Given the description of an element on the screen output the (x, y) to click on. 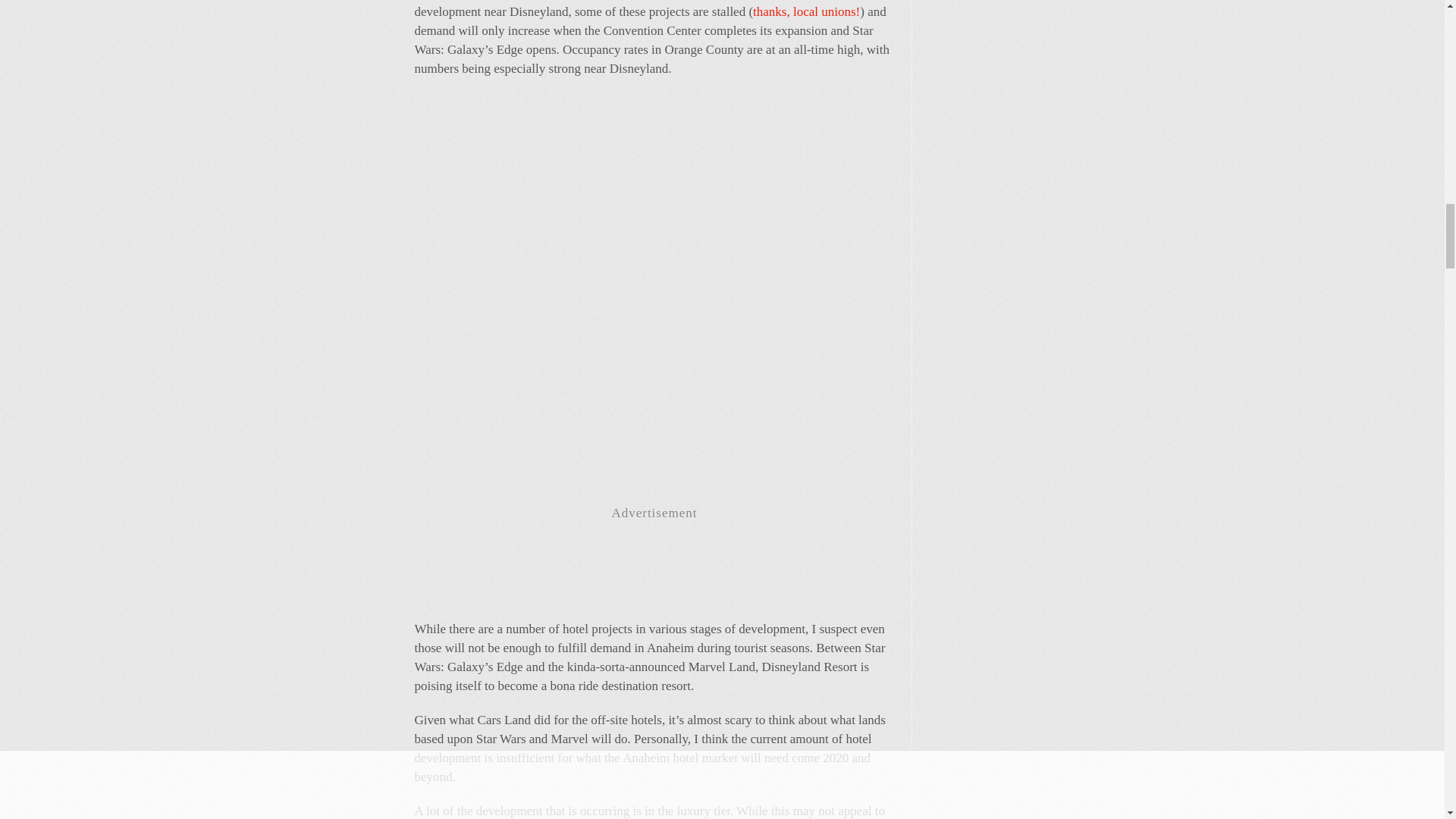
thanks, local unions! (806, 11)
